Given the description of an element on the screen output the (x, y) to click on. 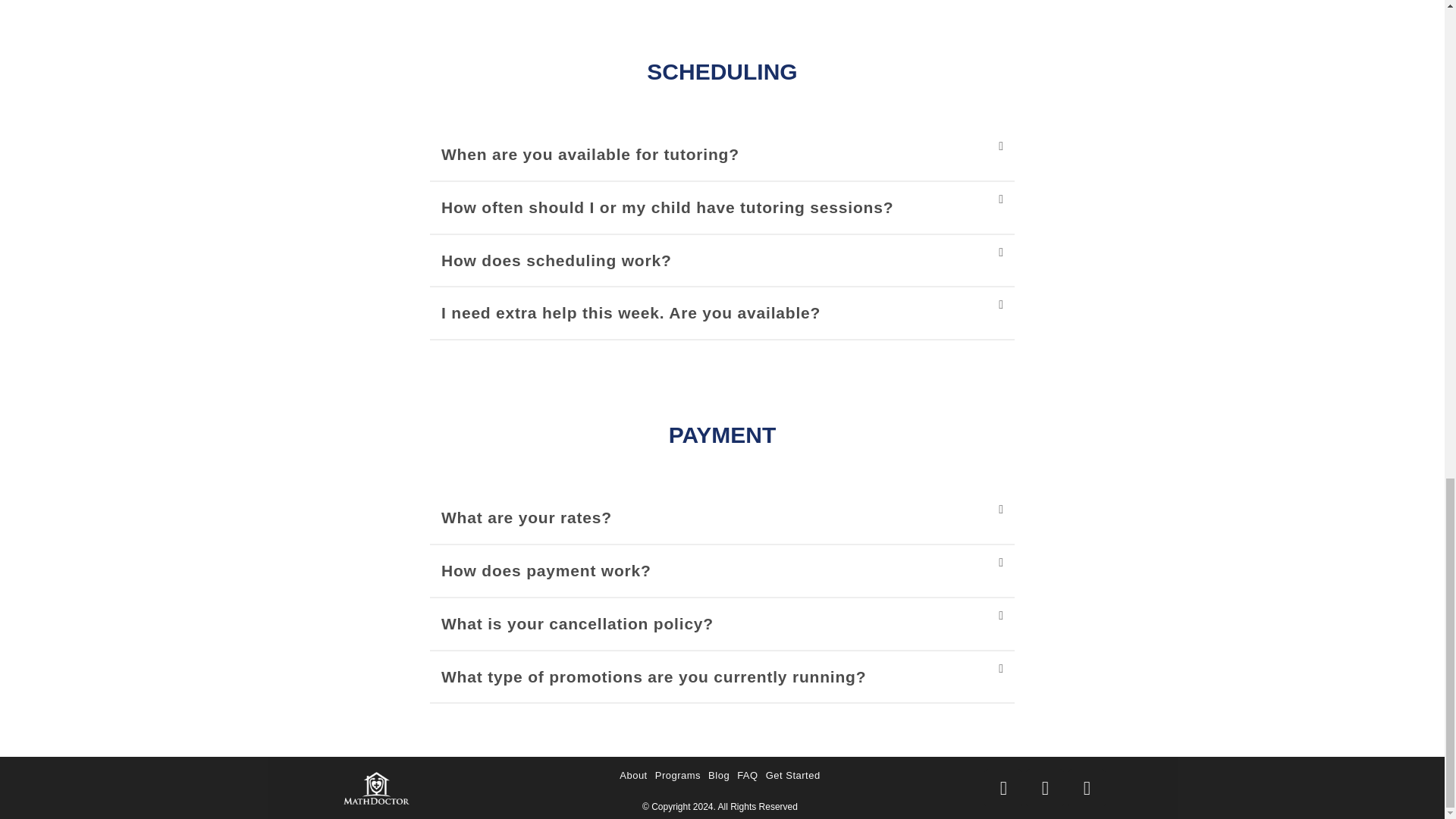
What type of promotions are you currently running? (653, 676)
What is your cancellation policy? (577, 623)
When are you available for tutoring? (590, 153)
About (632, 775)
How does scheduling work? (556, 260)
How often should I or my child have tutoring sessions? (667, 207)
How does payment work? (545, 570)
Get Started (792, 775)
I need extra help this week. Are you available? (631, 312)
Blog (718, 775)
What are your rates? (526, 517)
FAQ (747, 775)
Programs (677, 775)
